Given the description of an element on the screen output the (x, y) to click on. 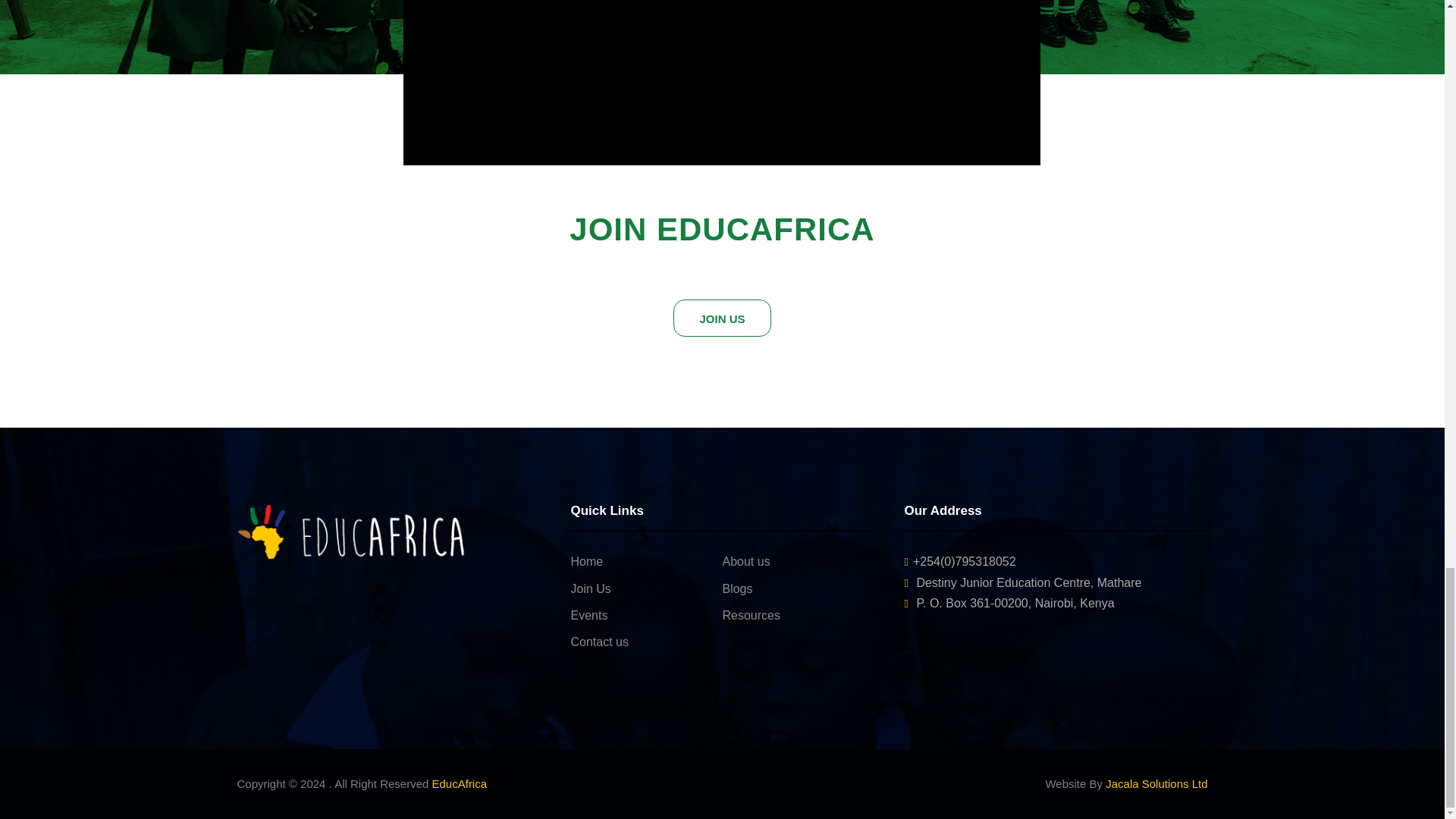
Home (586, 561)
Join Us (590, 588)
EducAfrica (459, 783)
JOIN US (721, 317)
Events (588, 615)
Jacala Solutions Ltd (1156, 783)
Contact us (598, 641)
About us (746, 561)
Blogs (737, 588)
Resources (750, 615)
